Given the description of an element on the screen output the (x, y) to click on. 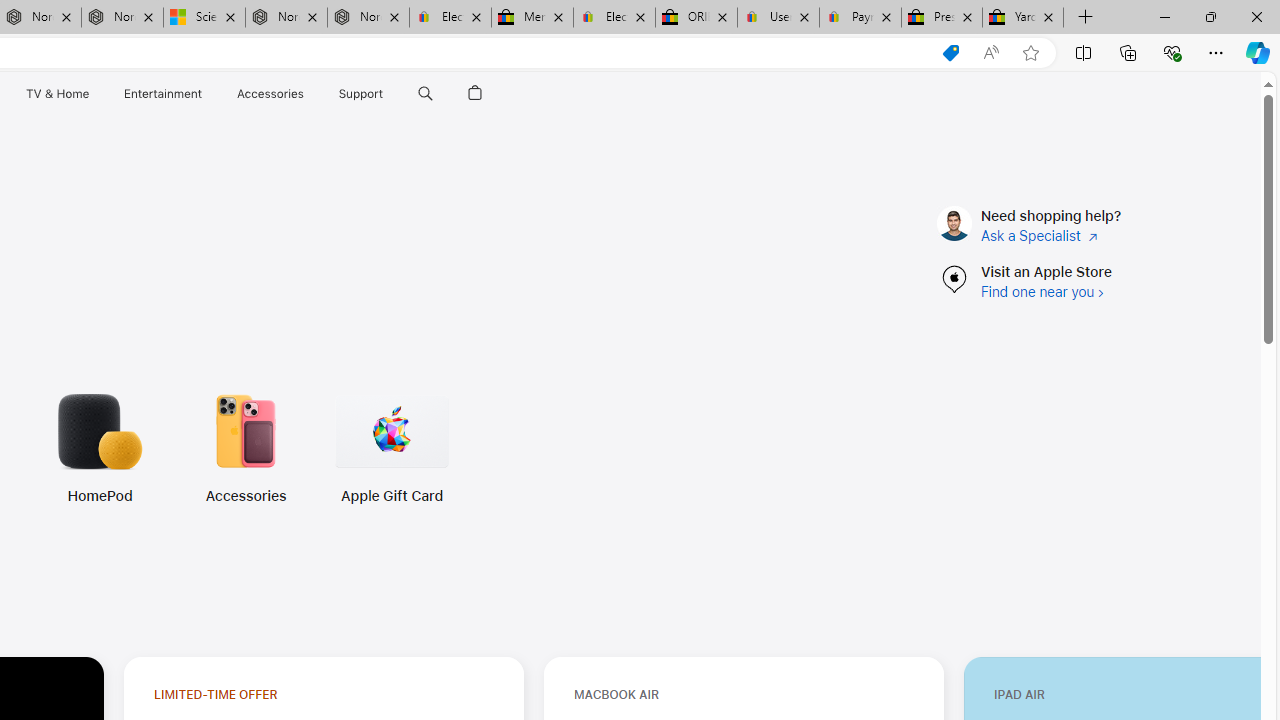
Support menu (387, 93)
Apple Gift Card (326, 447)
TV and Home menu (92, 93)
TV and Home (56, 93)
Accessories menu (306, 93)
HomePod (99, 496)
